Given the description of an element on the screen output the (x, y) to click on. 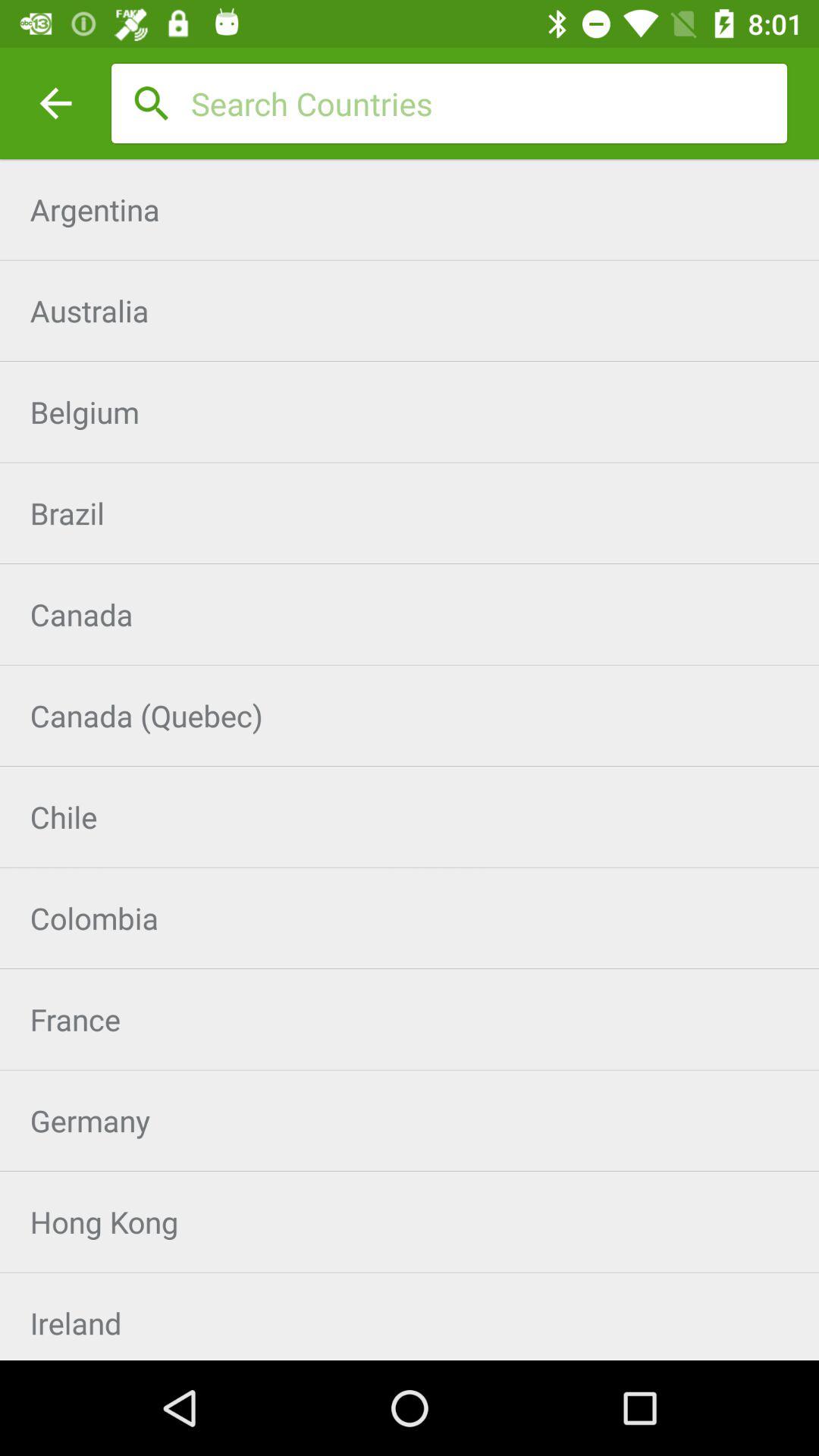
search countries option (489, 103)
